Given the description of an element on the screen output the (x, y) to click on. 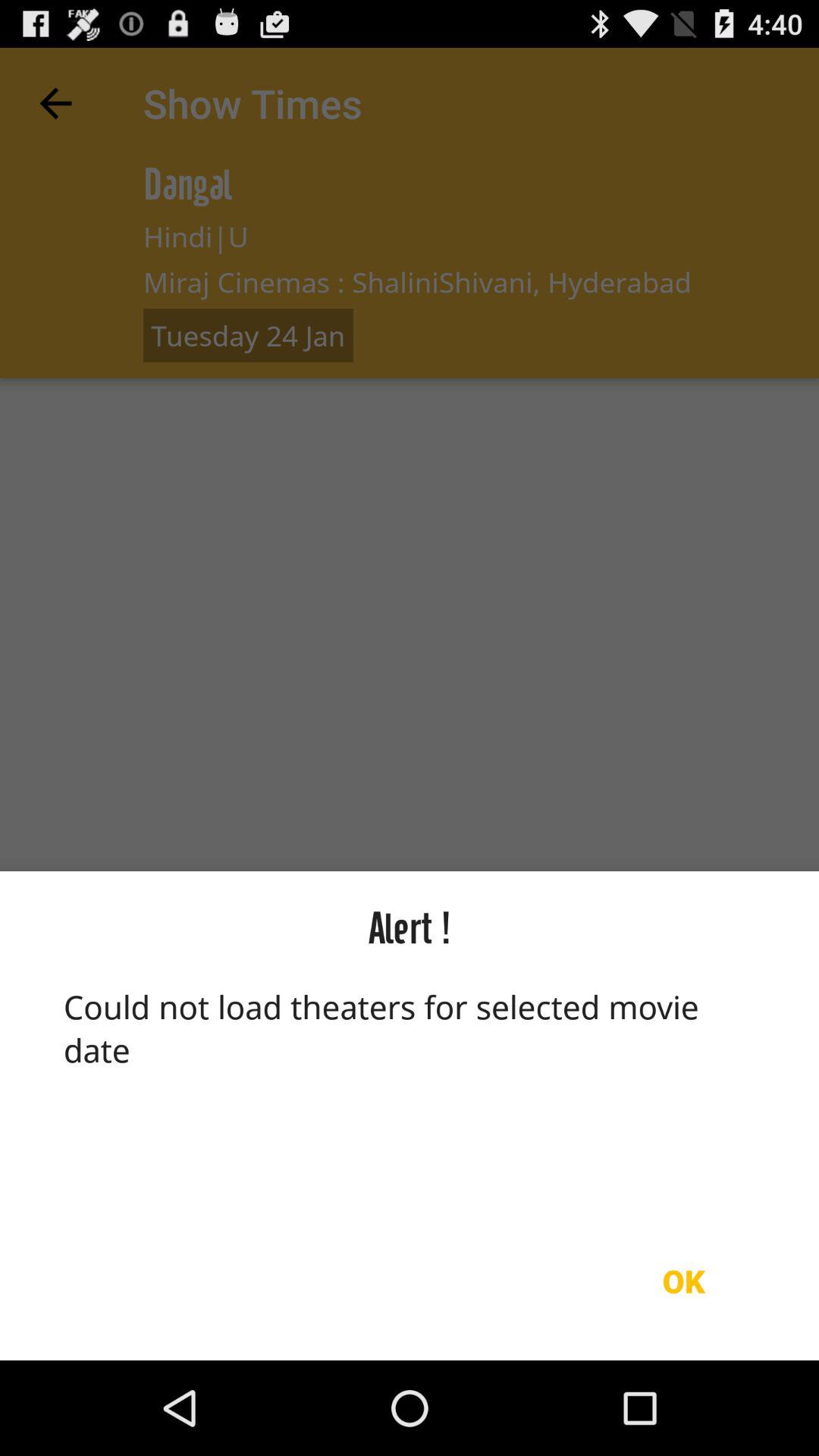
turn off item below alert ! (409, 1093)
